Given the description of an element on the screen output the (x, y) to click on. 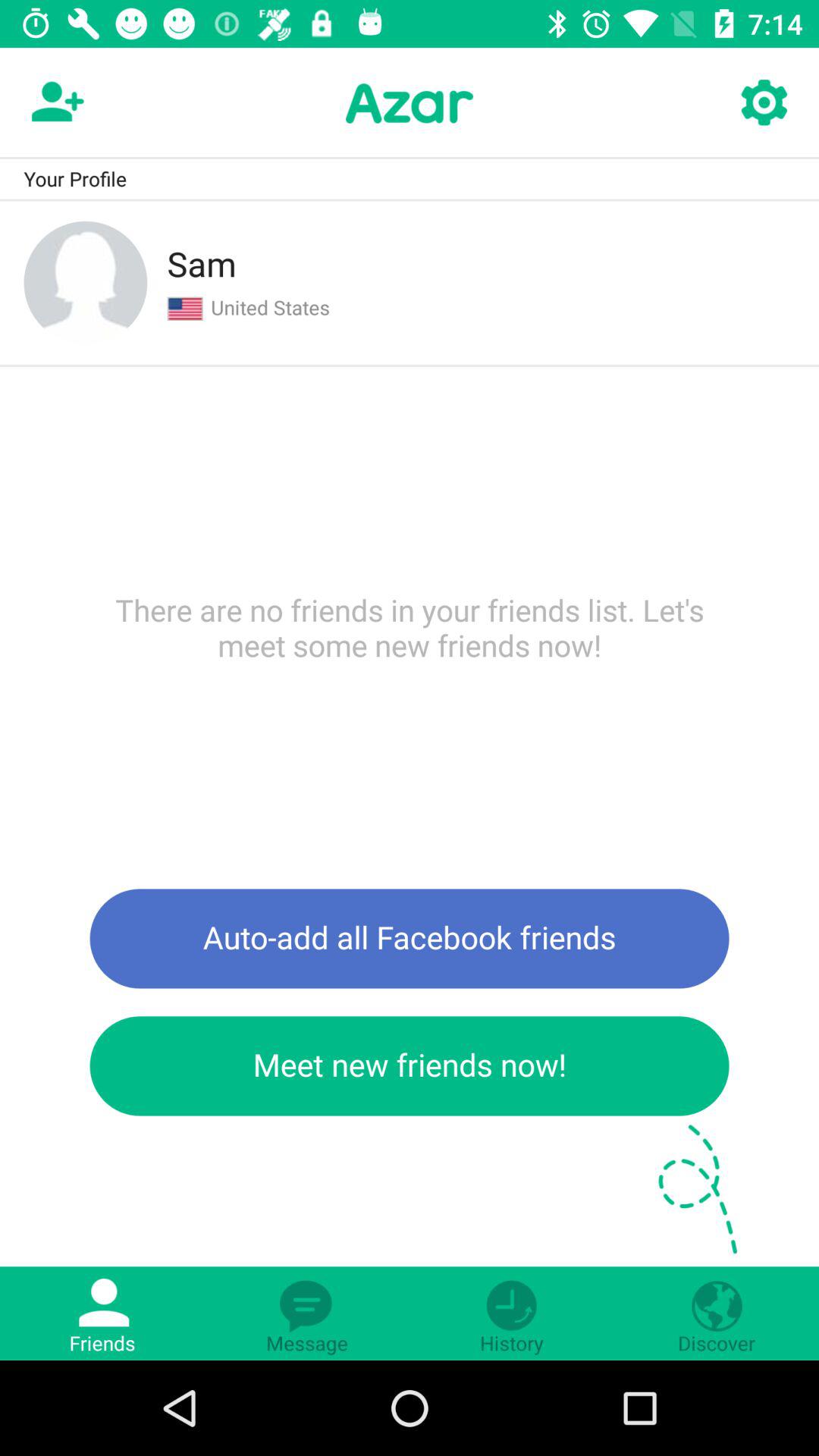
open item below the there are no icon (409, 938)
